Given the description of an element on the screen output the (x, y) to click on. 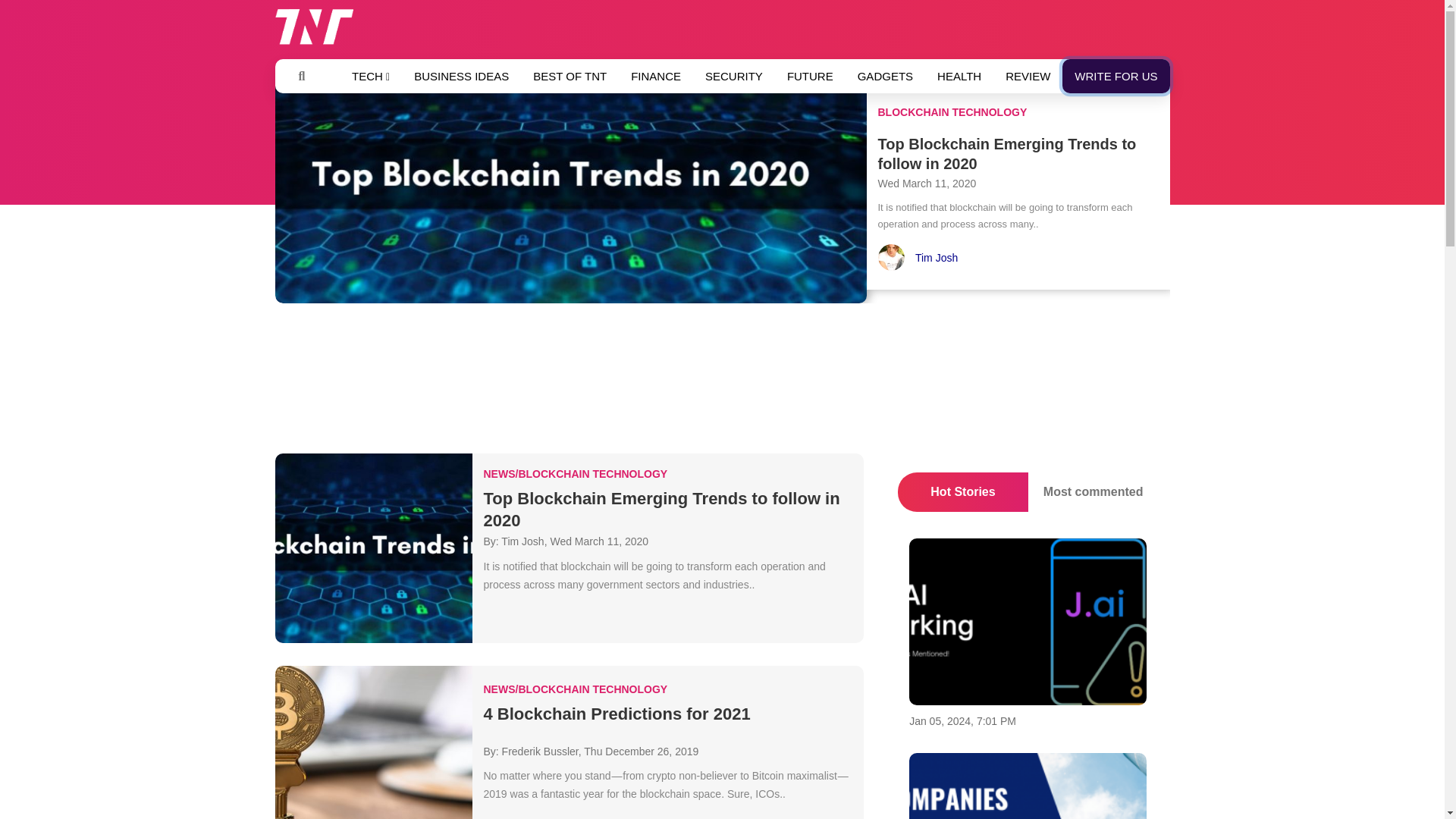
Advertisement (721, 382)
TECH (370, 75)
